Given the description of an element on the screen output the (x, y) to click on. 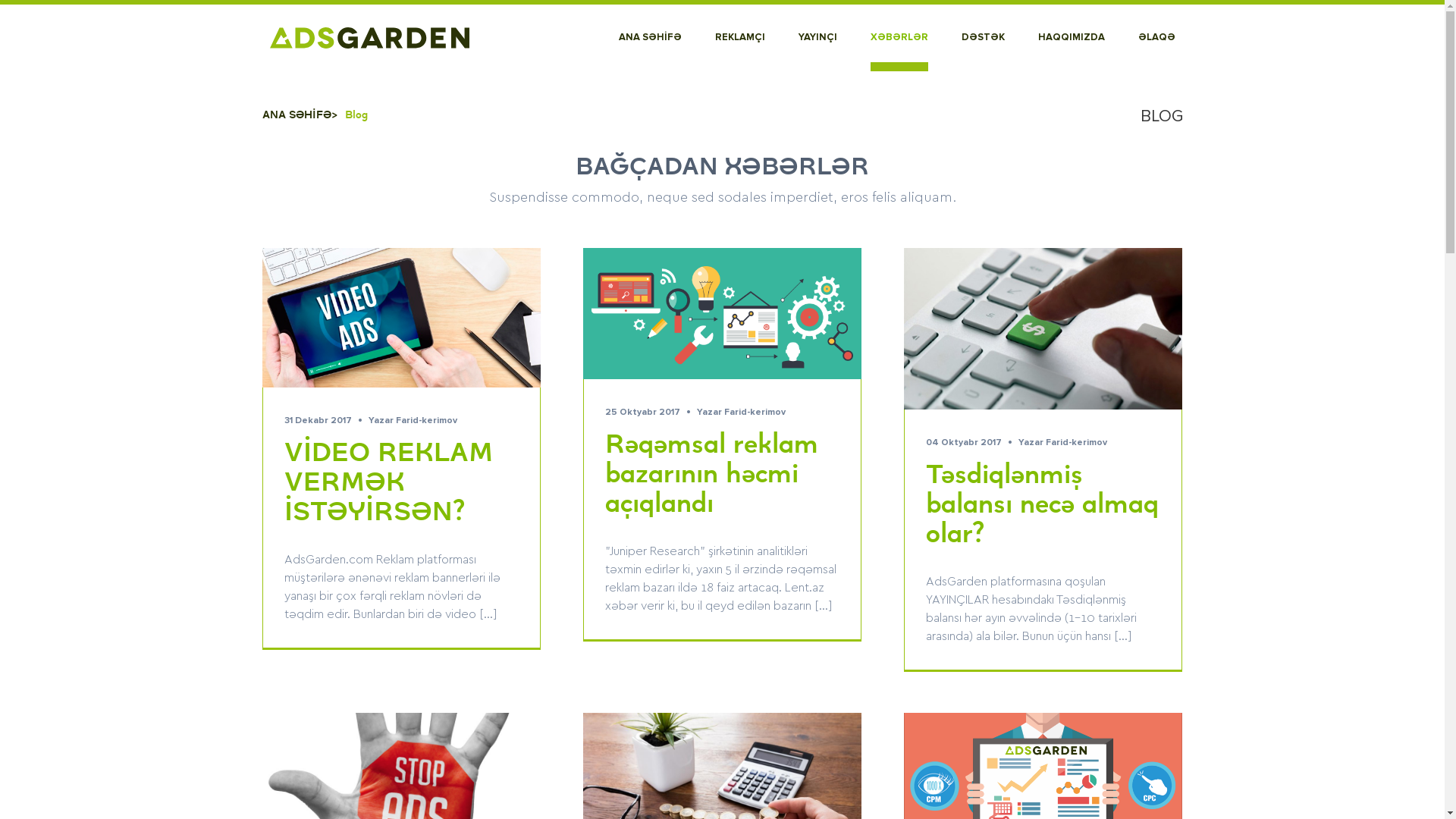
HAQQIMIZDA Element type: text (1070, 37)
